Given the description of an element on the screen output the (x, y) to click on. 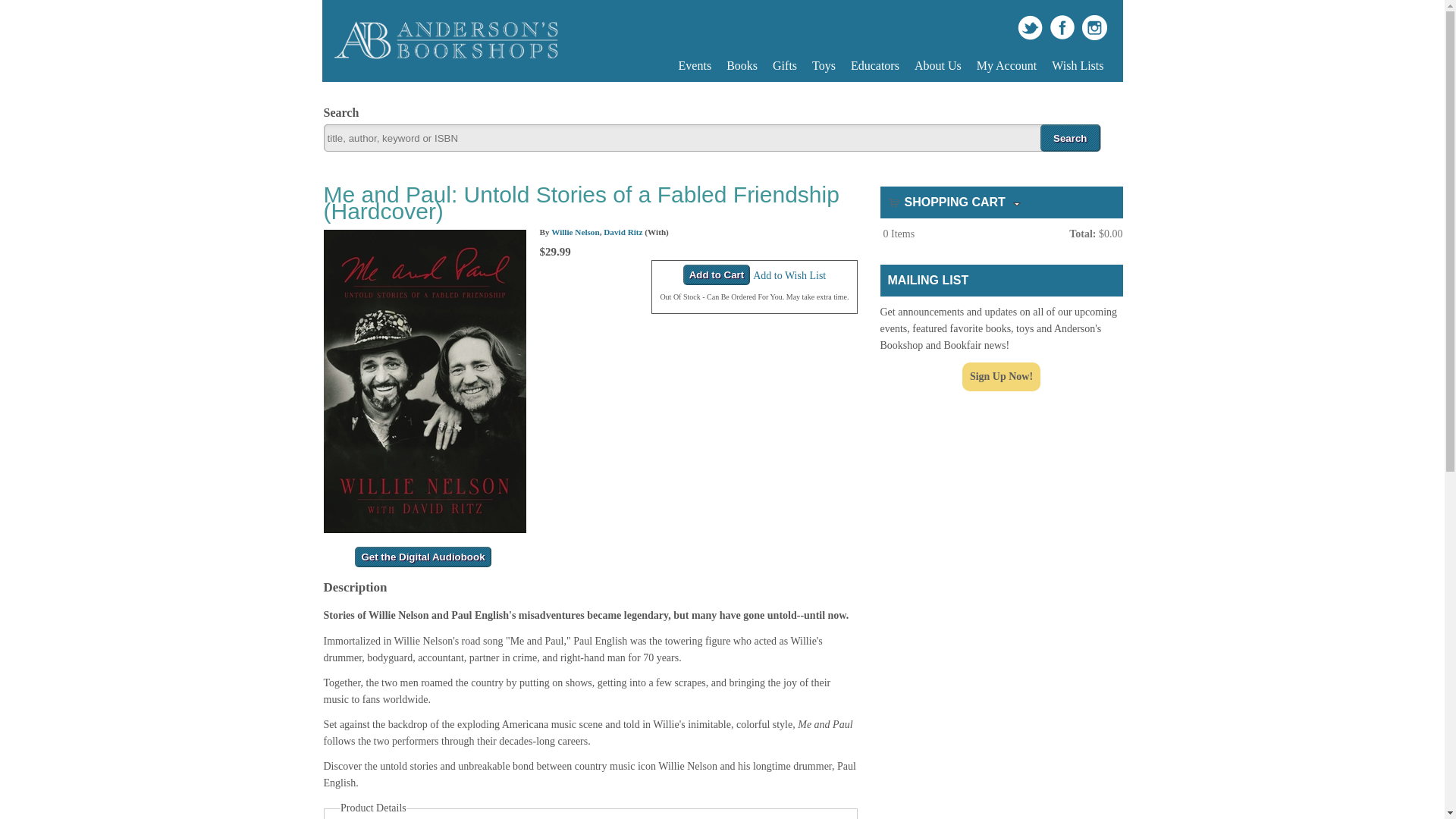
Find A Wish List (1076, 65)
David Ritz (623, 231)
Wish Lists (1076, 65)
Search (1070, 137)
Get the Digital Audiobook (422, 557)
About Us (938, 65)
Add to Wish List (788, 275)
Events (695, 65)
Enter the terms you wish to search for. (711, 137)
Willie Nelson (575, 231)
